Given the description of an element on the screen output the (x, y) to click on. 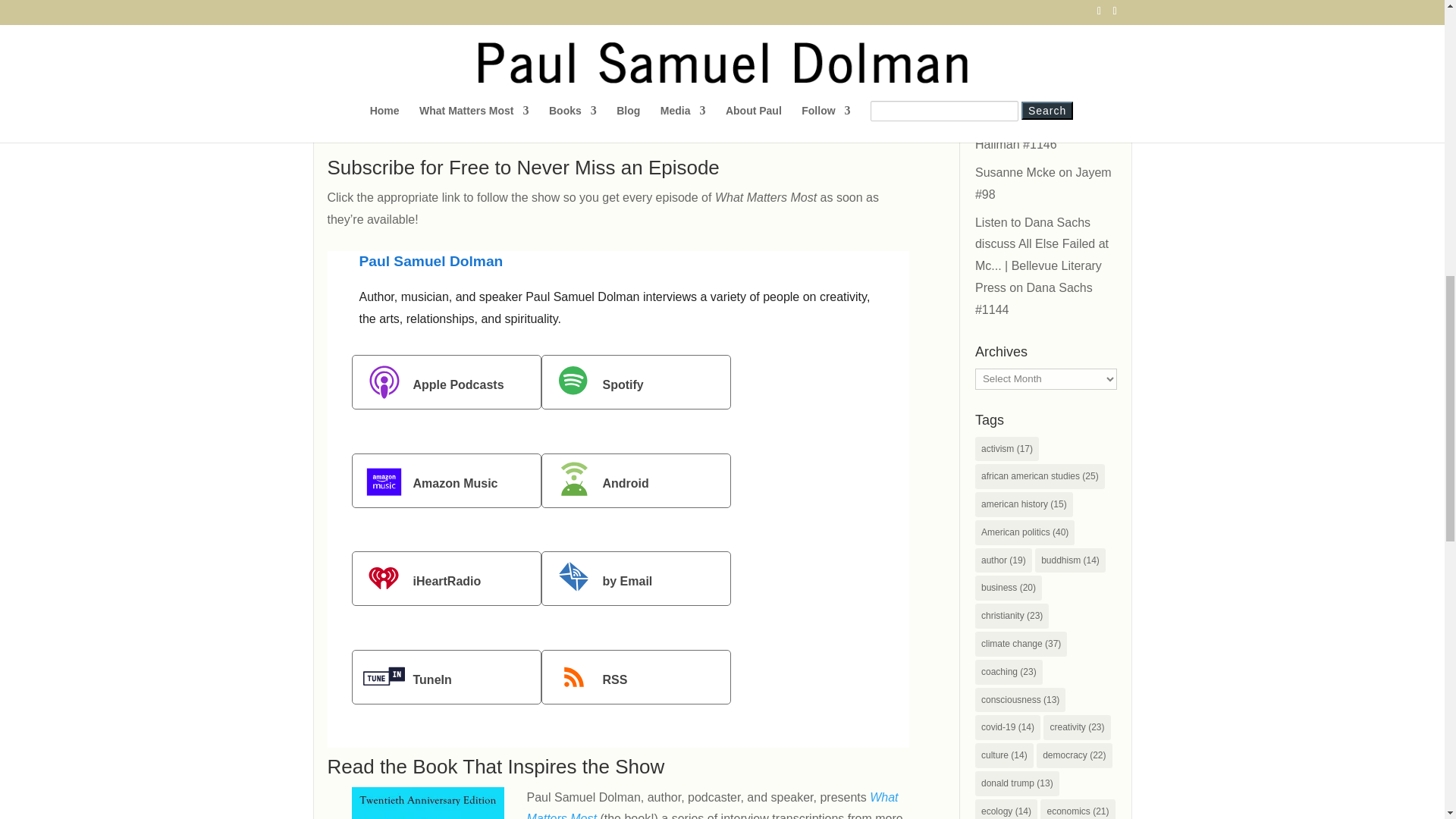
Subscribe on TuneIn (446, 677)
Subscribe on Amazon Music (446, 480)
Subscribe on Android (635, 480)
Subscribe on iHeartRadio (446, 578)
Subscribe on Apple Podcasts (446, 381)
Subscribe via RSS (635, 677)
Subscribe by Email (635, 578)
Subscribe on Spotify (635, 381)
